Given the description of an element on the screen output the (x, y) to click on. 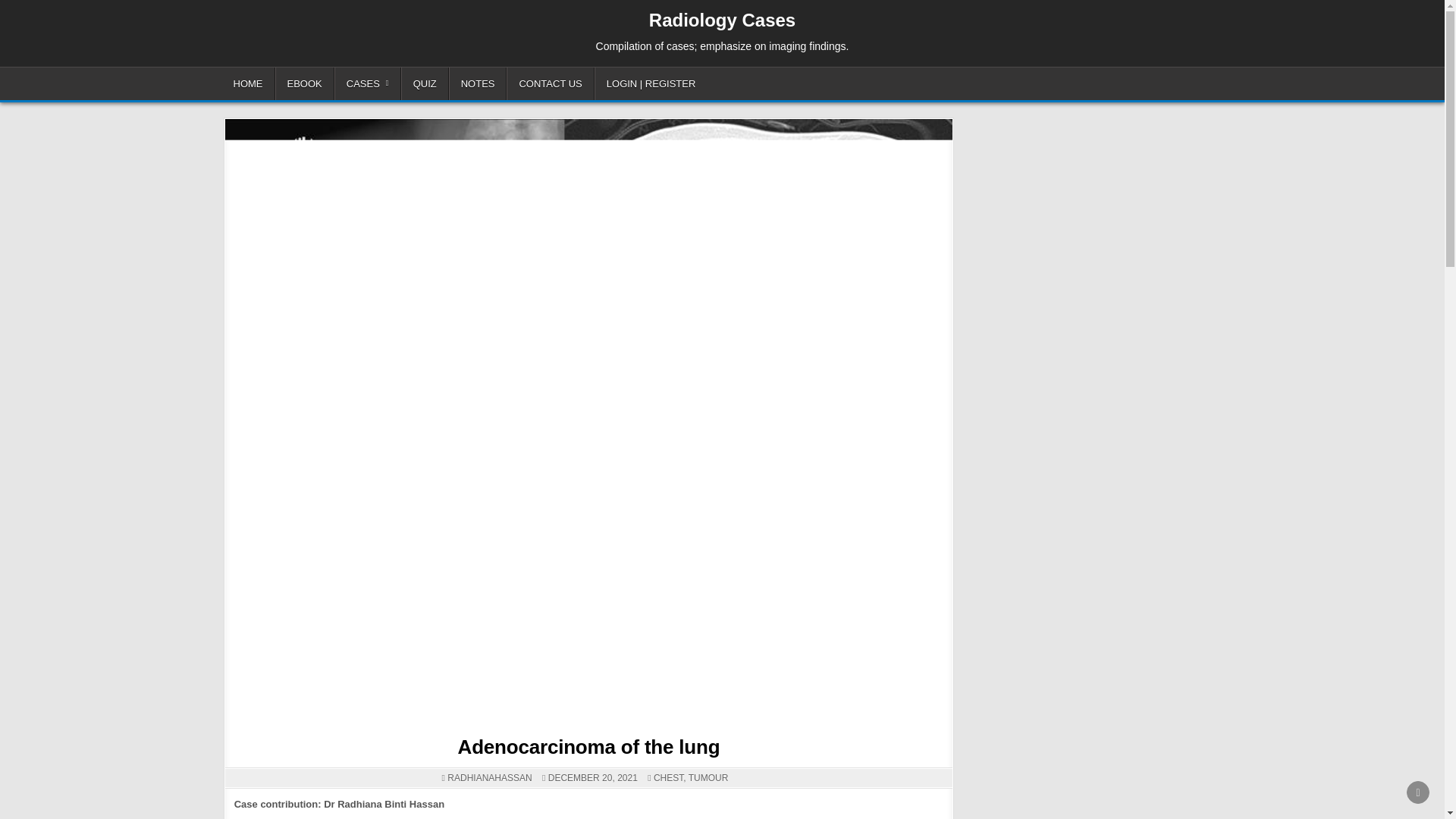
SCROLL TO TOP (1417, 792)
TUMOUR (708, 777)
CASES (367, 83)
Scroll to Top (1417, 792)
CONTACT US (550, 83)
Radiology Cases (721, 19)
HOME (248, 83)
NOTES (477, 83)
SCROLL TO TOP (1417, 792)
RADHIANAHASSAN (488, 777)
